Given the description of an element on the screen output the (x, y) to click on. 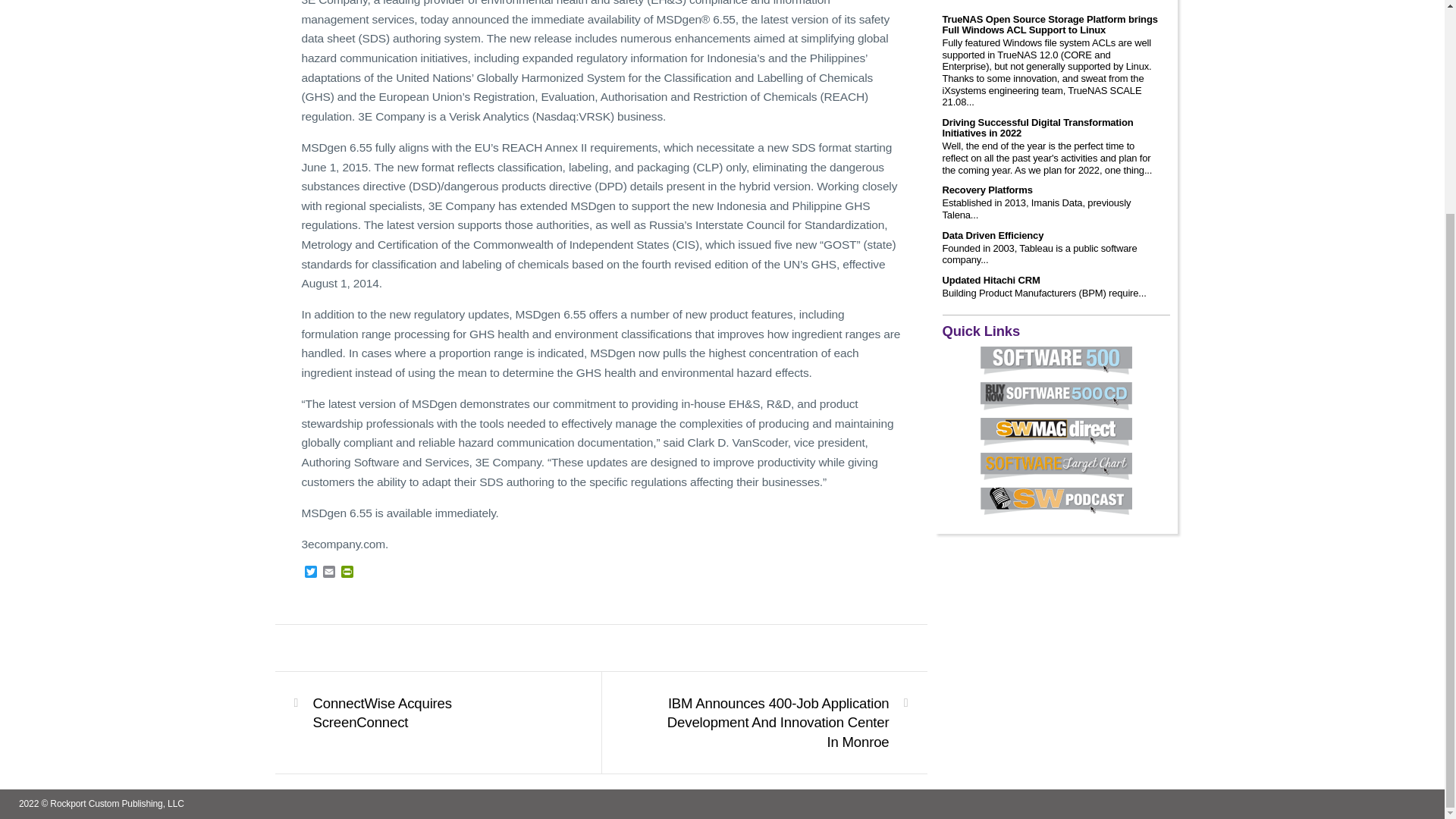
Next (773, 722)
Recovery Platforms (987, 190)
Twitter (310, 572)
PrintFriendly (346, 572)
ConnectWise Acquires ScreenConnect (428, 712)
Previous (428, 712)
Email (328, 572)
Updated Hitachi CRM (990, 280)
PrintFriendly (346, 572)
